Given the description of an element on the screen output the (x, y) to click on. 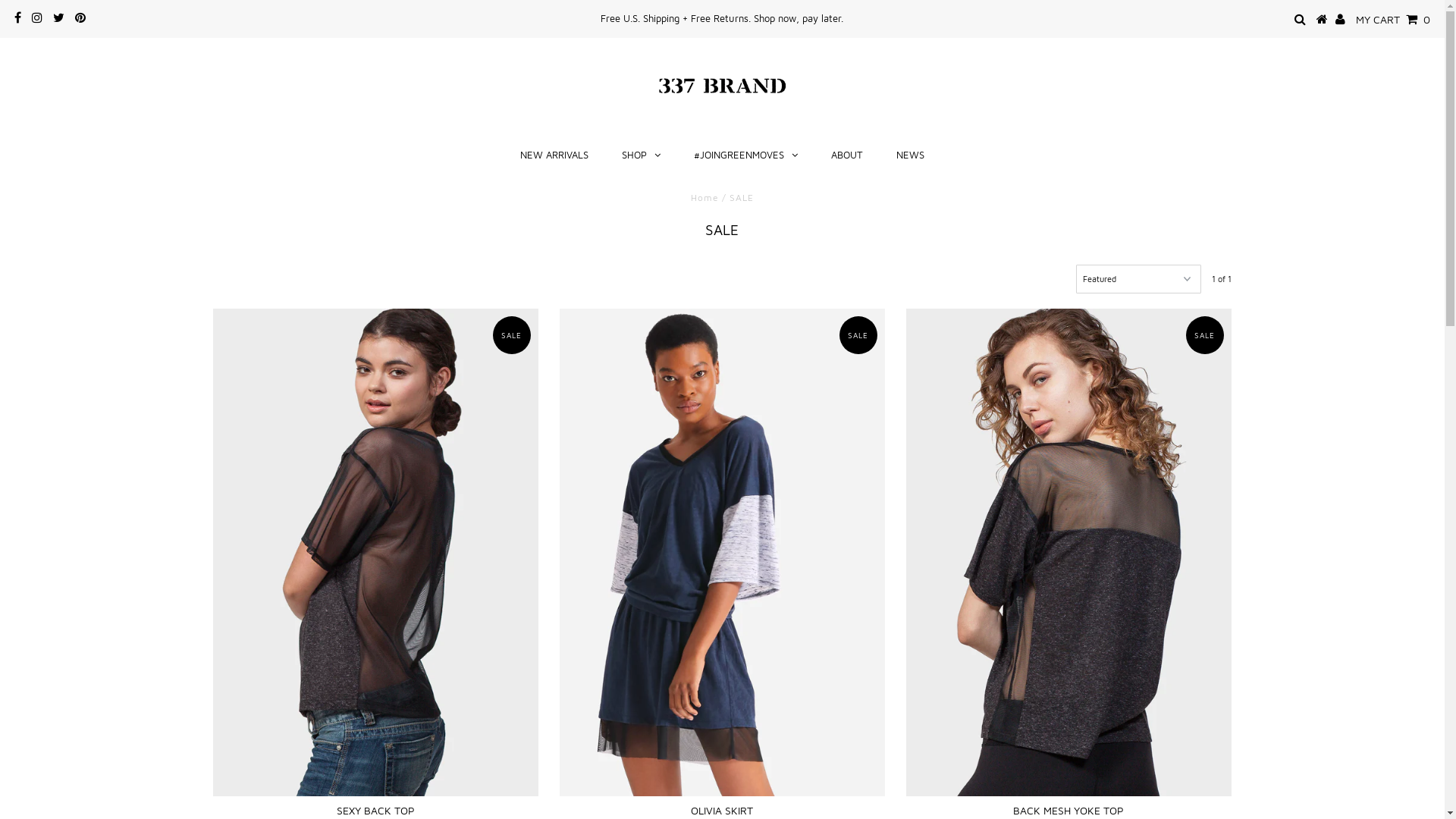
ABOUT Element type: text (846, 154)
SHOP Element type: text (640, 154)
NEW ARRIVALS Element type: text (554, 154)
OLIVIA SKIRT Element type: hover (721, 552)
SEXY BACK TOP Element type: hover (375, 552)
SEXY BACK TOP Element type: text (375, 809)
OLIVIA SKIRT Element type: text (721, 809)
Free U.S. Shipping + Free Returns. Shop now, pay later. Element type: text (721, 18)
BACK MESH YOKE TOP Element type: hover (1068, 552)
NEWS Element type: text (910, 154)
BACK MESH YOKE TOP Element type: text (1068, 809)
Home Element type: text (704, 197)
MY CART    0 Element type: text (1392, 18)
#JOINGREENMOVES Element type: text (745, 154)
